Given the description of an element on the screen output the (x, y) to click on. 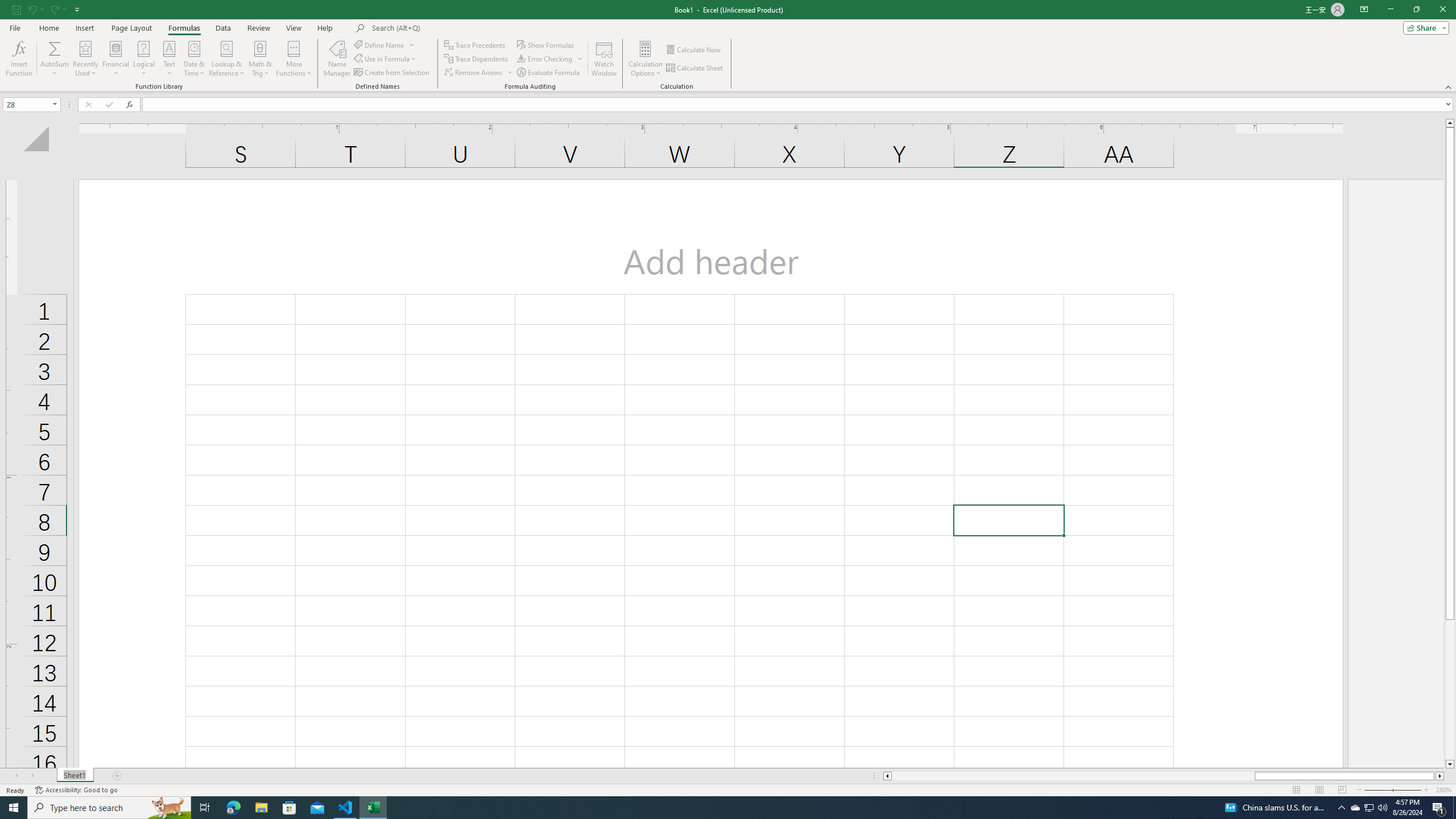
Recently Used (85, 58)
Show Formulas (546, 44)
Insert Function... (18, 58)
